Given the description of an element on the screen output the (x, y) to click on. 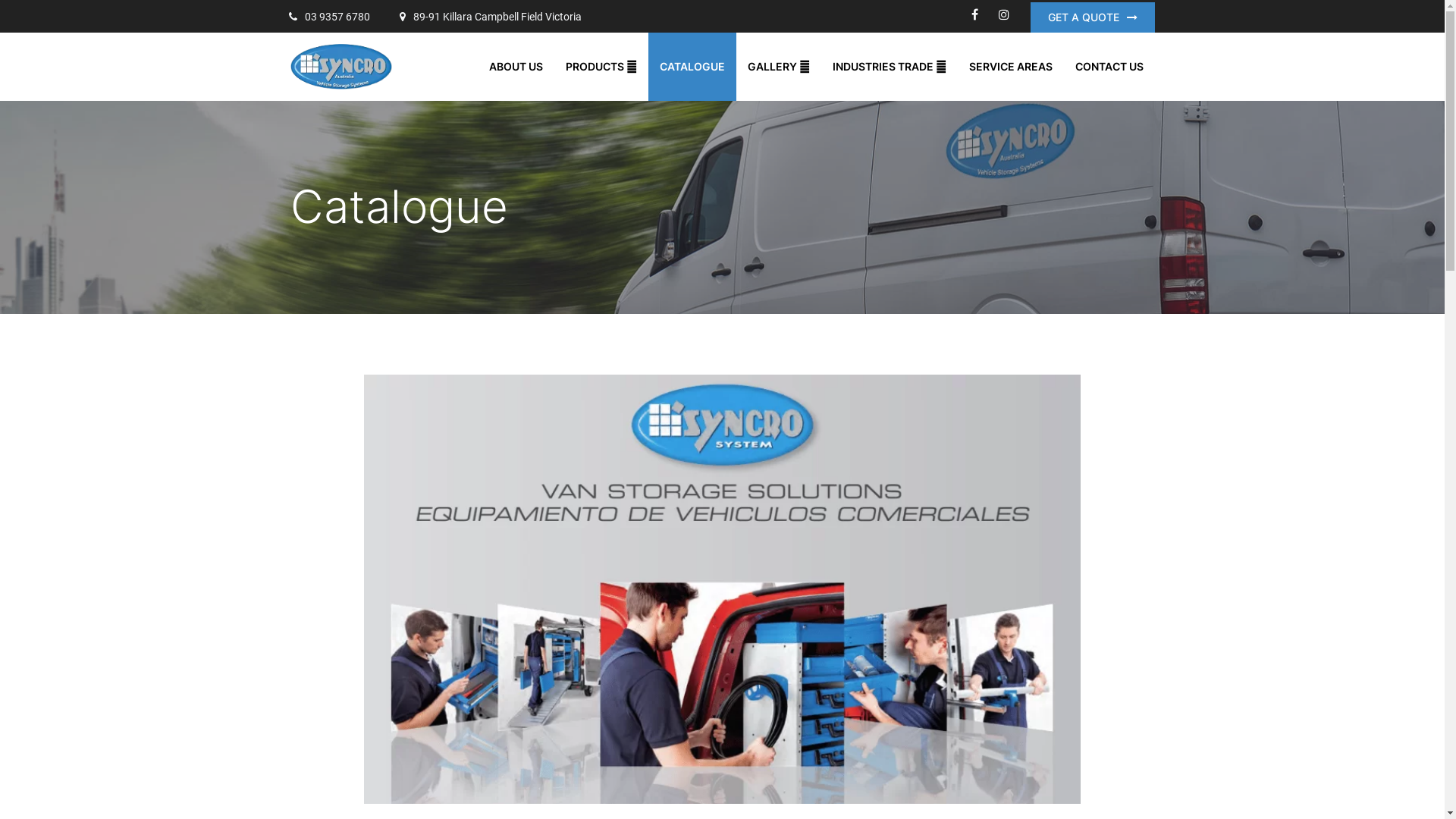
CATALOGUE Element type: text (691, 66)
CONTACT US Element type: text (1108, 66)
GET A QUOTE Element type: text (1091, 17)
89-91 Killara Campbell Field Victoria Element type: text (490, 17)
03 9357 6780 Element type: text (329, 17)
ABOUT US Element type: text (515, 66)
SERVICE AREAS Element type: text (1010, 66)
